Given the description of an element on the screen output the (x, y) to click on. 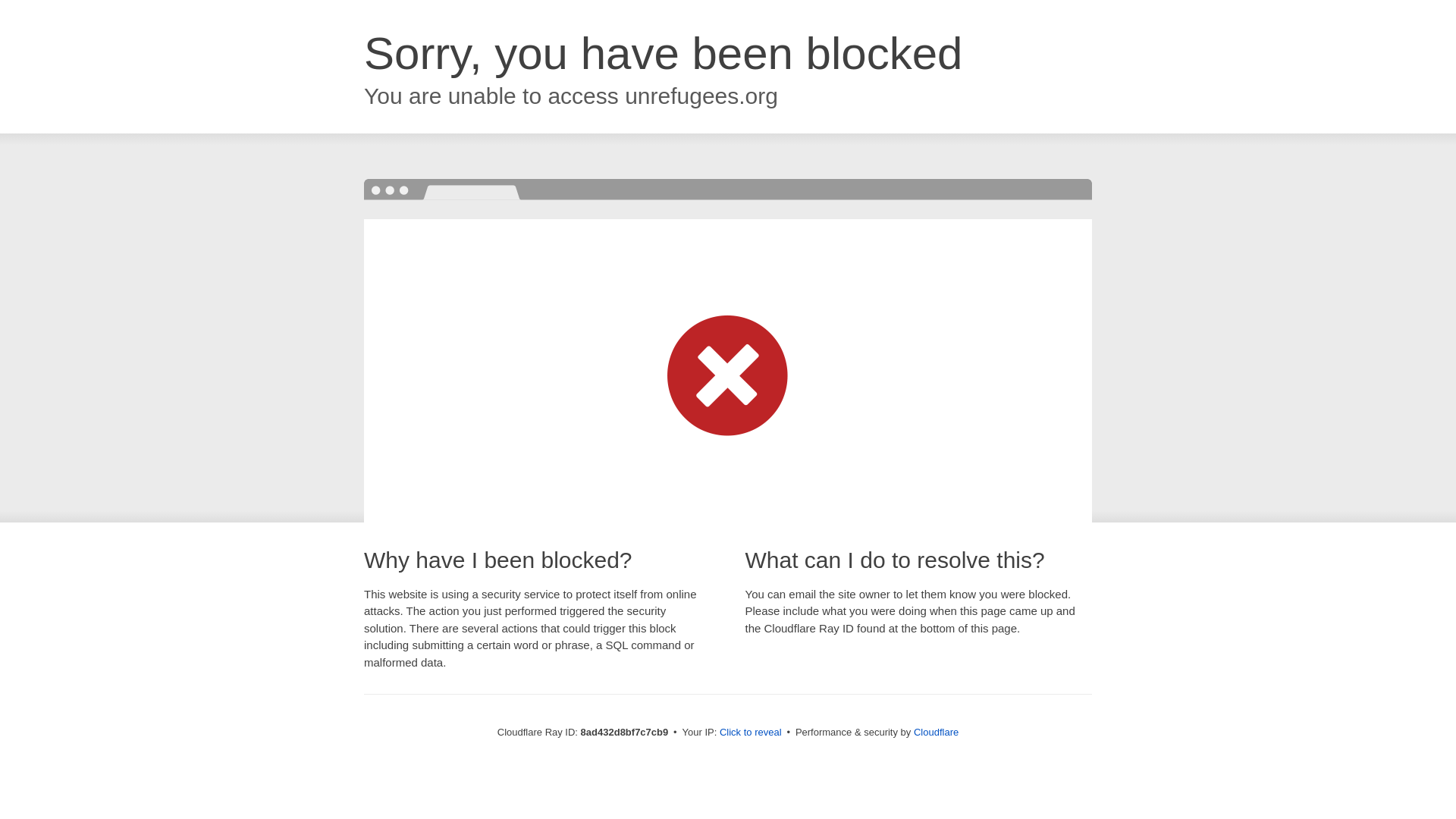
Cloudflare (936, 731)
Click to reveal (750, 732)
